Given the description of an element on the screen output the (x, y) to click on. 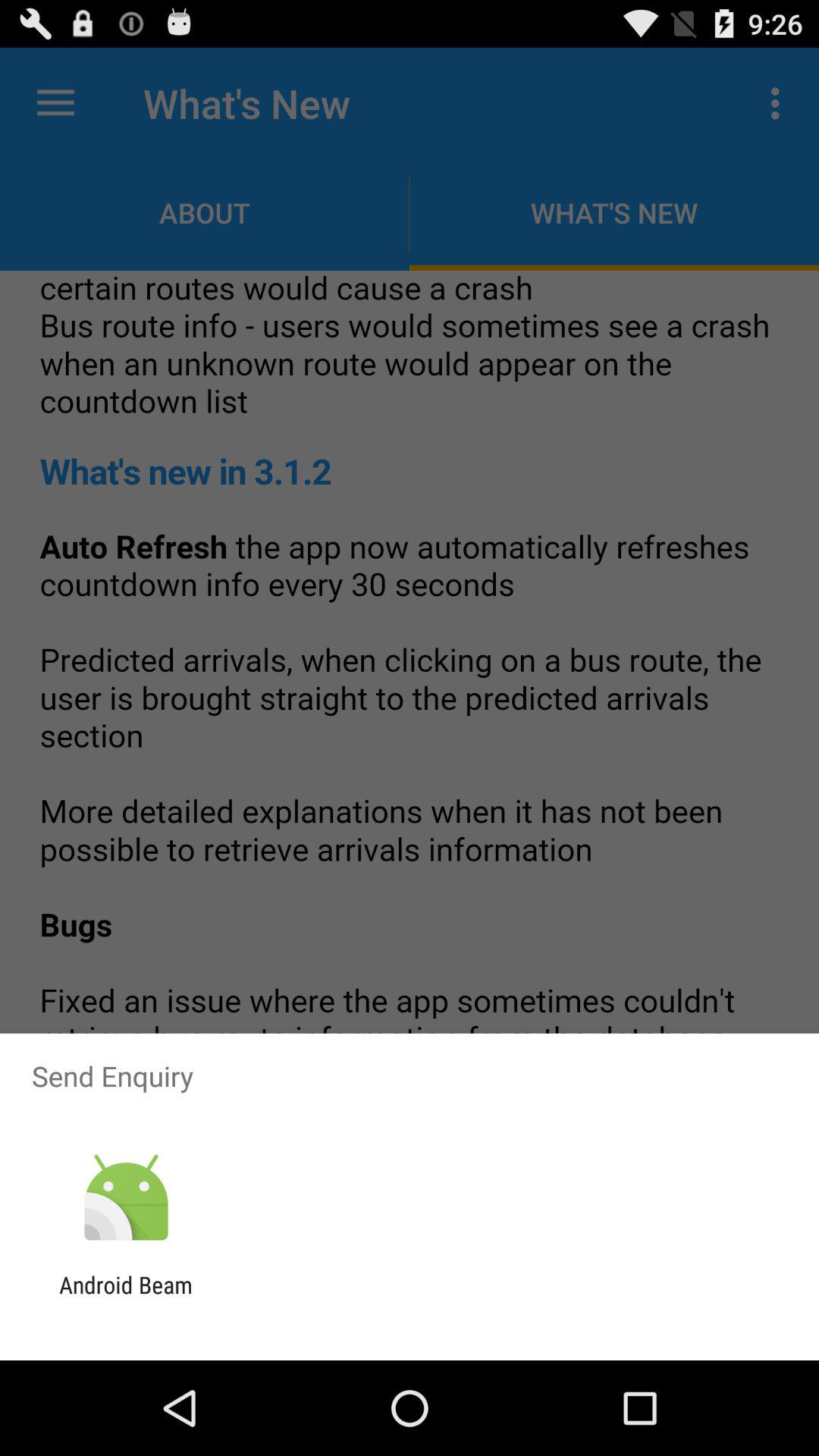
press android beam icon (125, 1298)
